Given the description of an element on the screen output the (x, y) to click on. 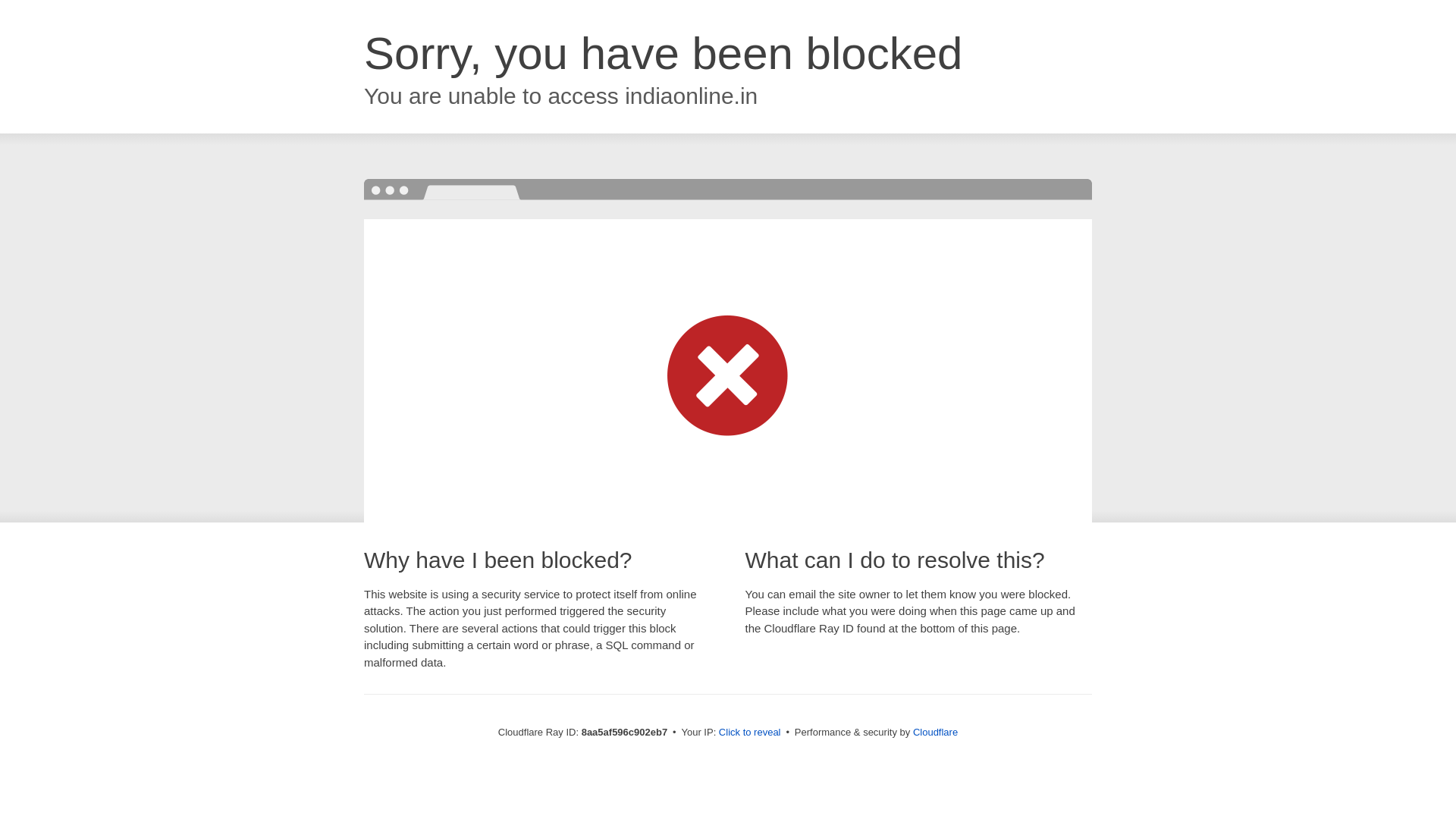
Cloudflare (935, 731)
Click to reveal (749, 732)
